Given the description of an element on the screen output the (x, y) to click on. 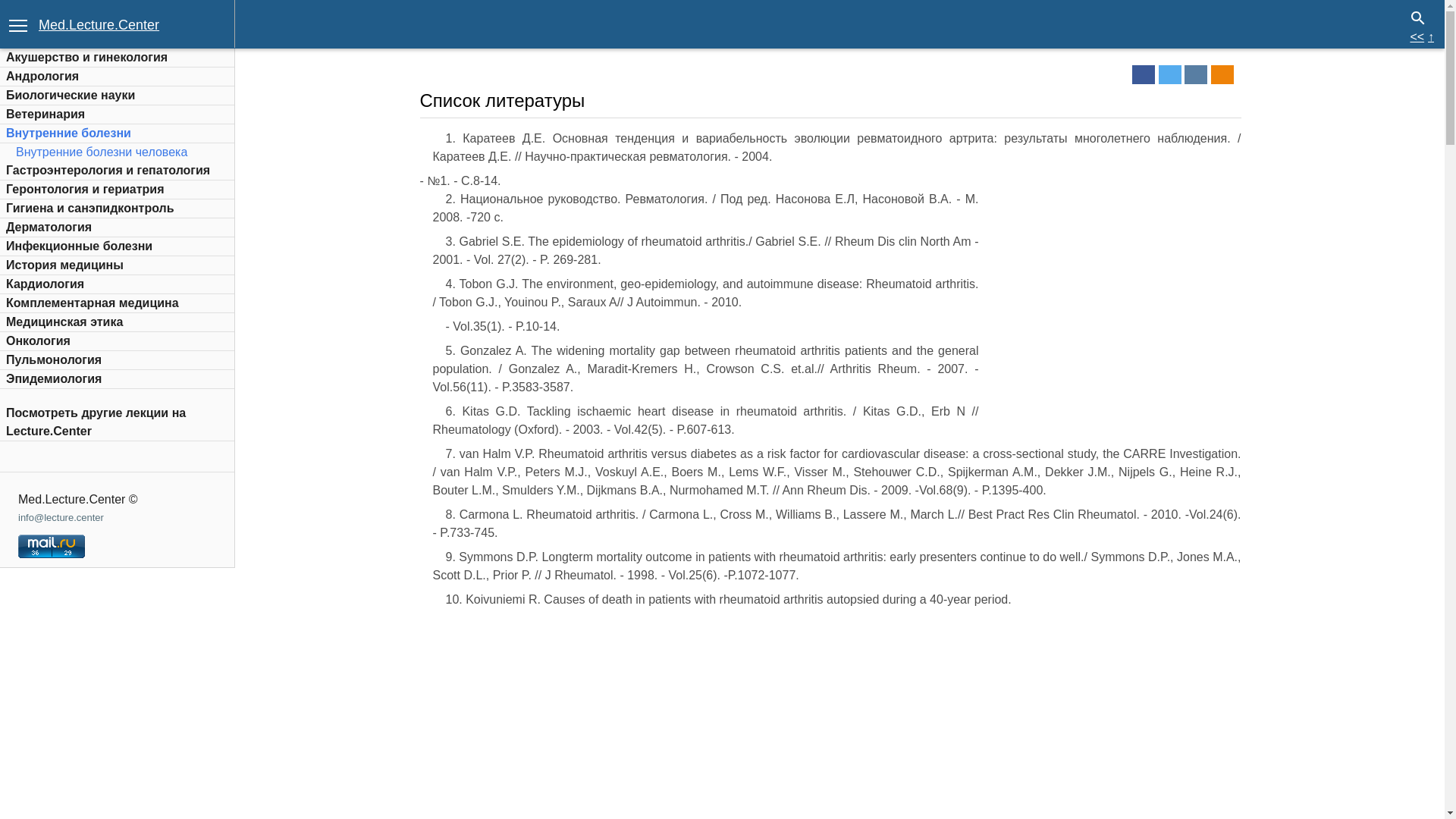
info@lecture.center Element type: text (60, 517)
menu Element type: text (18, 24)
Med.Lecture.Center Element type: text (98, 24)
<< Element type: text (1416, 36)
